Given the description of an element on the screen output the (x, y) to click on. 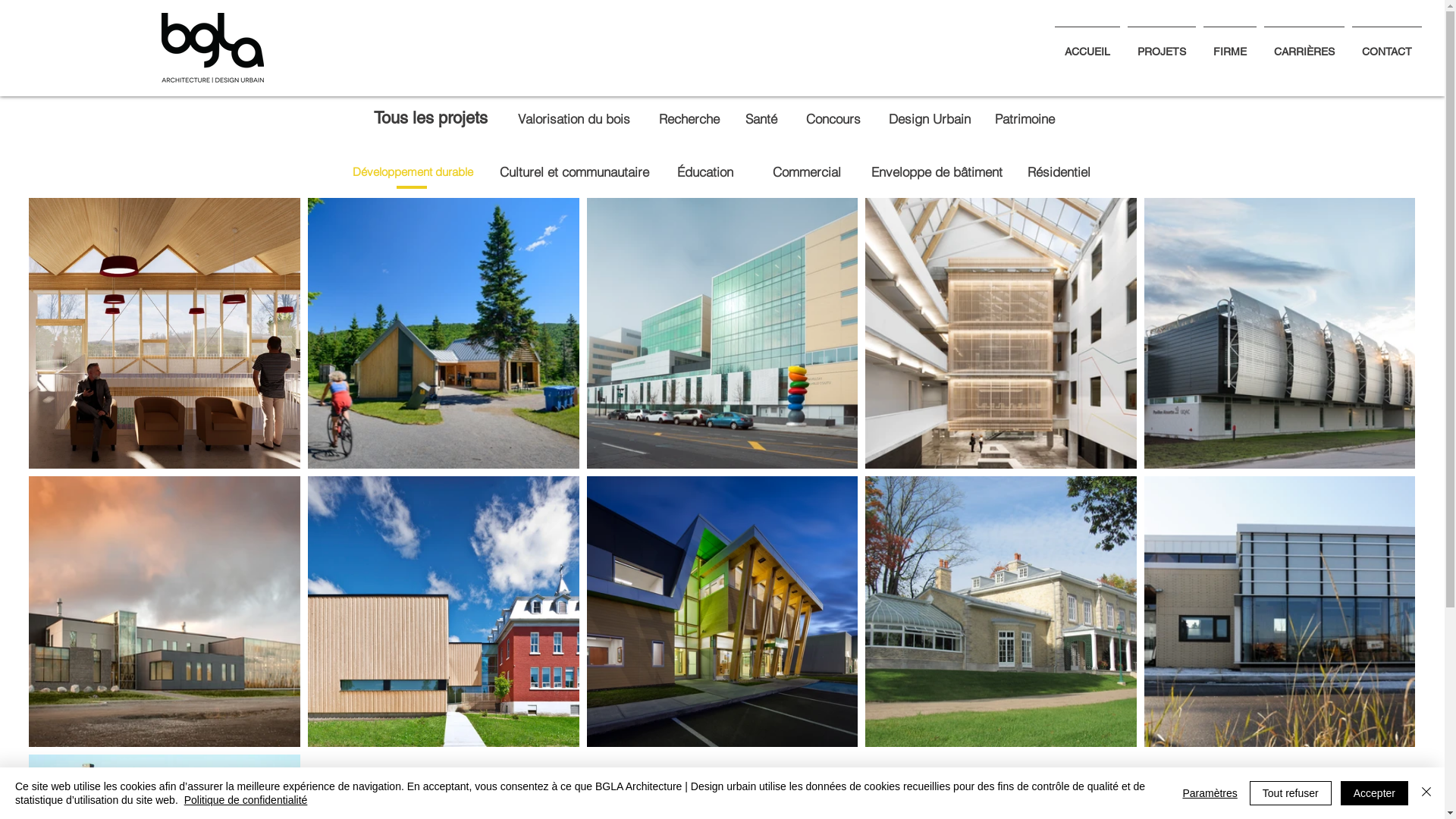
Culturel et communautaire Element type: text (573, 171)
Commercial Element type: text (805, 171)
Recherche Element type: text (688, 118)
FIRME Element type: text (1229, 44)
Tout refuser Element type: text (1290, 793)
Accepter Element type: text (1374, 793)
Valorisation du bois Element type: text (573, 118)
Design Urbain Element type: text (929, 118)
CONTACT Element type: text (1386, 44)
PROJETS Element type: text (1161, 44)
Tous les projets Element type: text (435, 118)
Concours Element type: text (832, 118)
ACCUEIL Element type: text (1087, 44)
Patrimoine Element type: text (1024, 118)
